Given the description of an element on the screen output the (x, y) to click on. 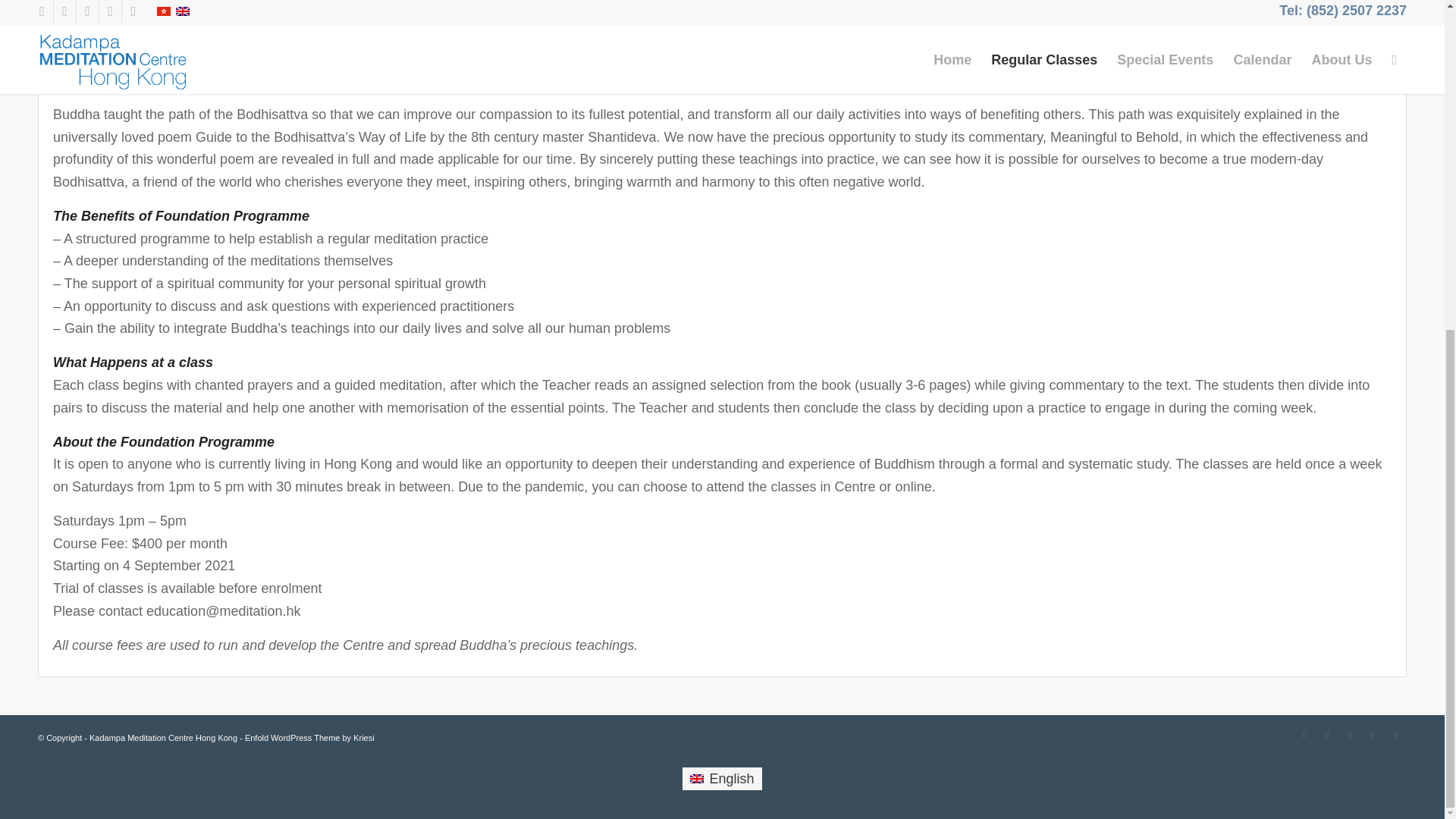
Facebook (1304, 734)
Instagram (1372, 734)
Kadampa Meditation Centre Hong Kong (162, 737)
Pinterest (1349, 734)
Twitter (1327, 734)
